Given the description of an element on the screen output the (x, y) to click on. 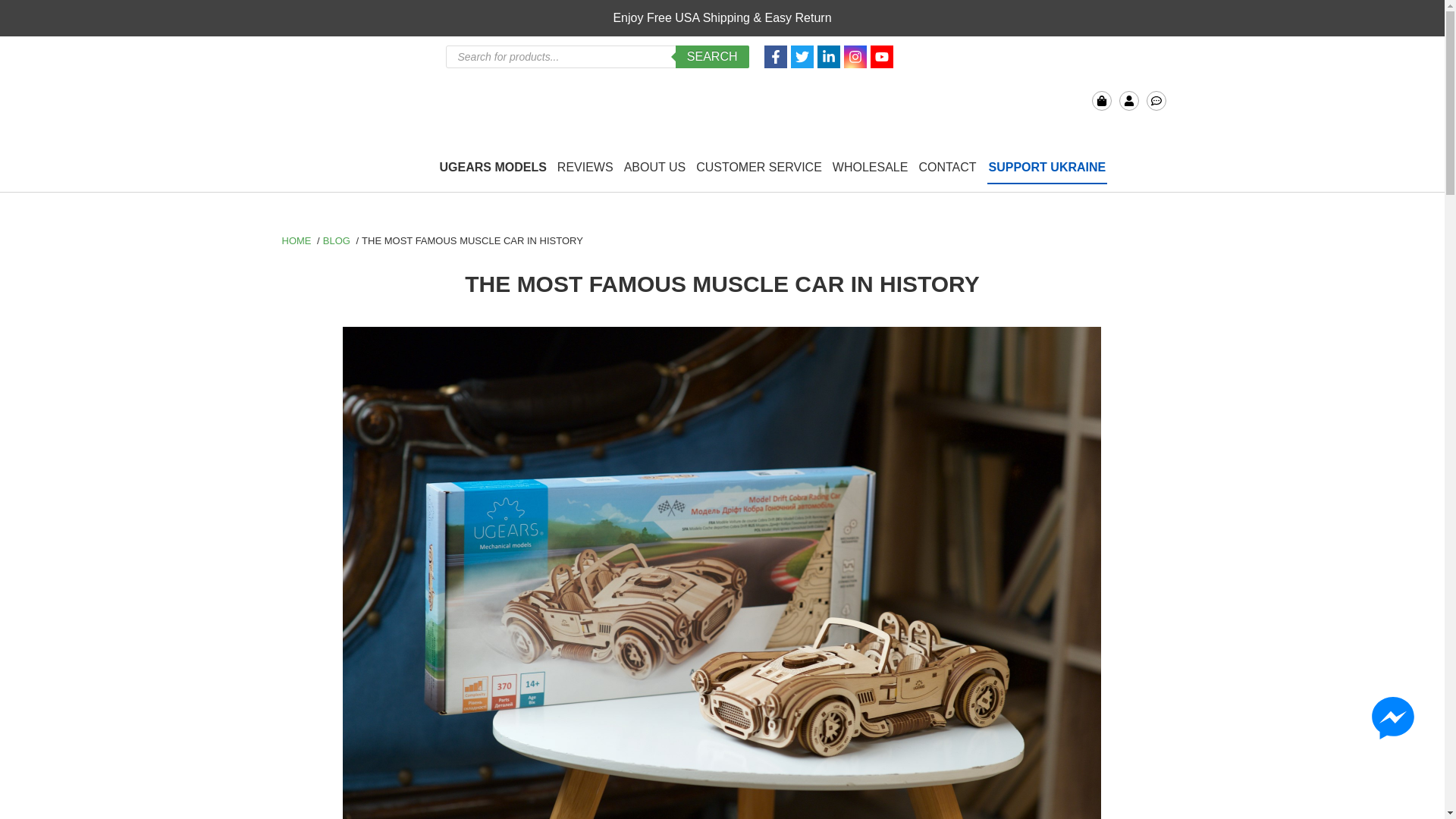
Chat us now (1156, 100)
SEARCH (712, 56)
Go to Blog. (336, 240)
SUPPORT UKRAINE (1047, 168)
ABOUT US (654, 168)
HOME (296, 240)
WHOLESALE (870, 168)
UGears USA (339, 88)
CUSTOMER SERVICE (758, 168)
REVIEWS (584, 168)
